Given the description of an element on the screen output the (x, y) to click on. 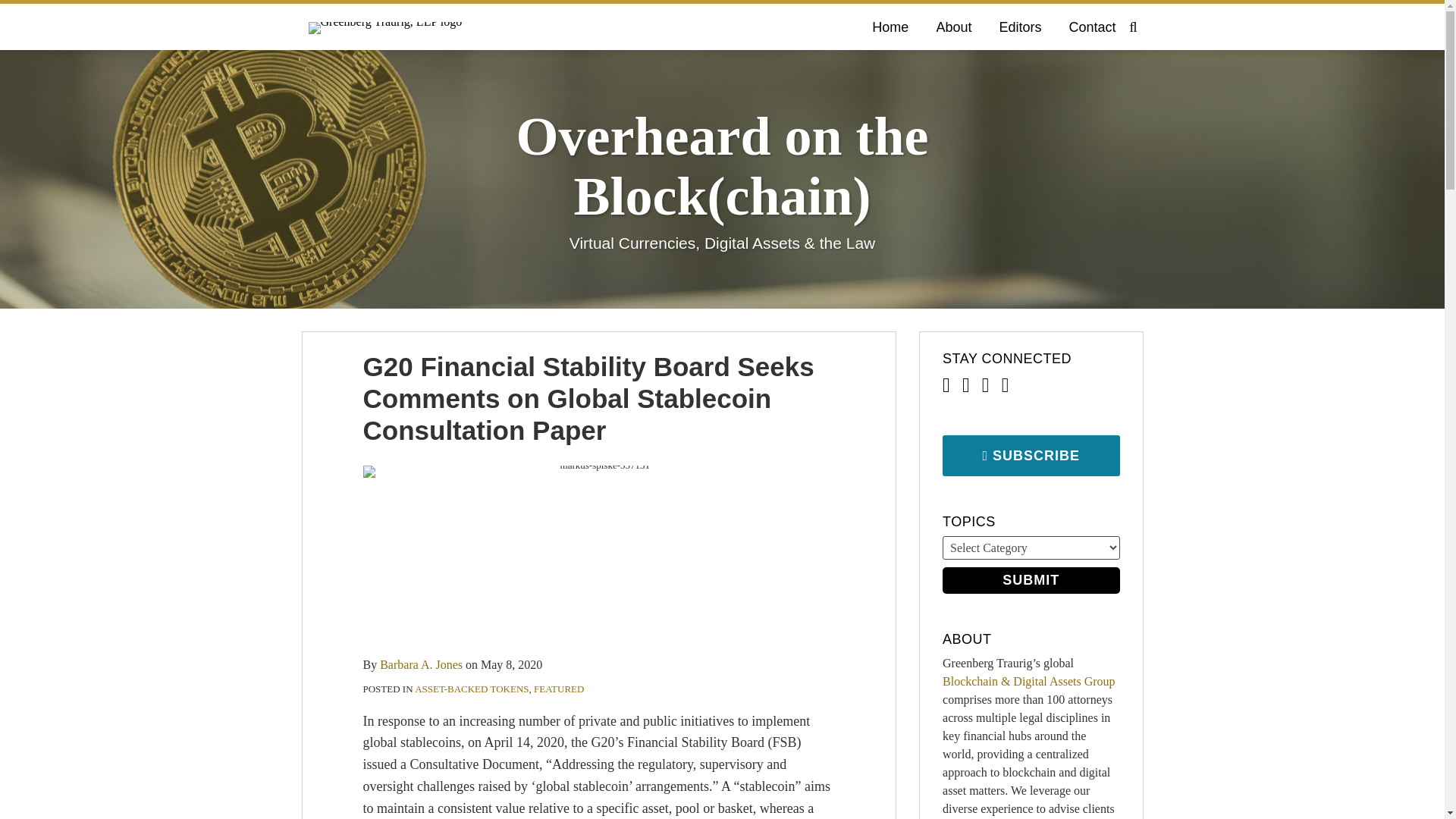
Barbara A. Jones (421, 664)
Submit (1030, 580)
About (953, 27)
ASSET-BACKED TOKENS (471, 688)
Editors (1019, 27)
Contact (1091, 27)
FEATURED (558, 688)
Home (890, 27)
